Given the description of an element on the screen output the (x, y) to click on. 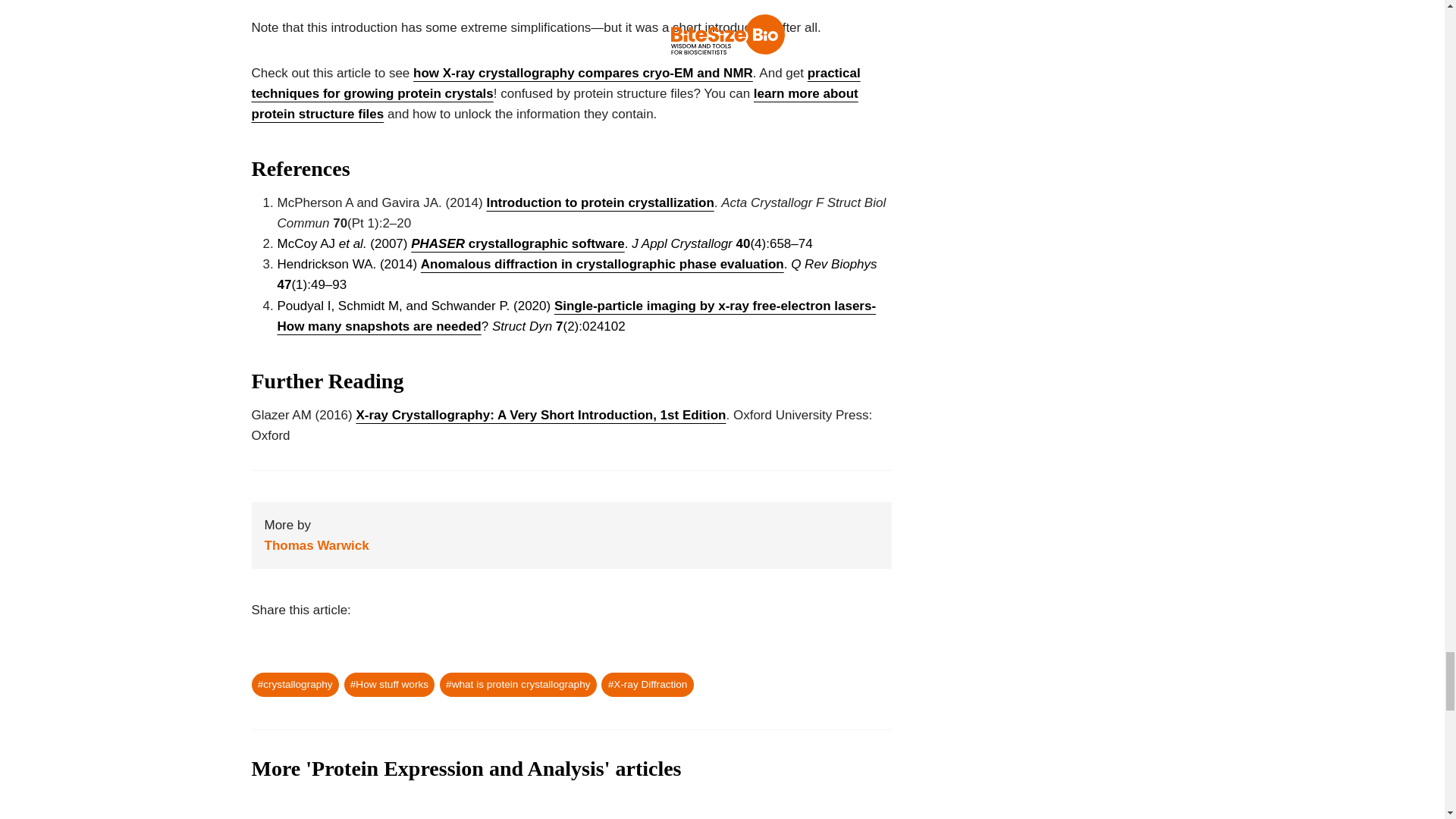
crystallography (295, 684)
what is protein crystallography (517, 684)
How stuff works (389, 684)
